Given the description of an element on the screen output the (x, y) to click on. 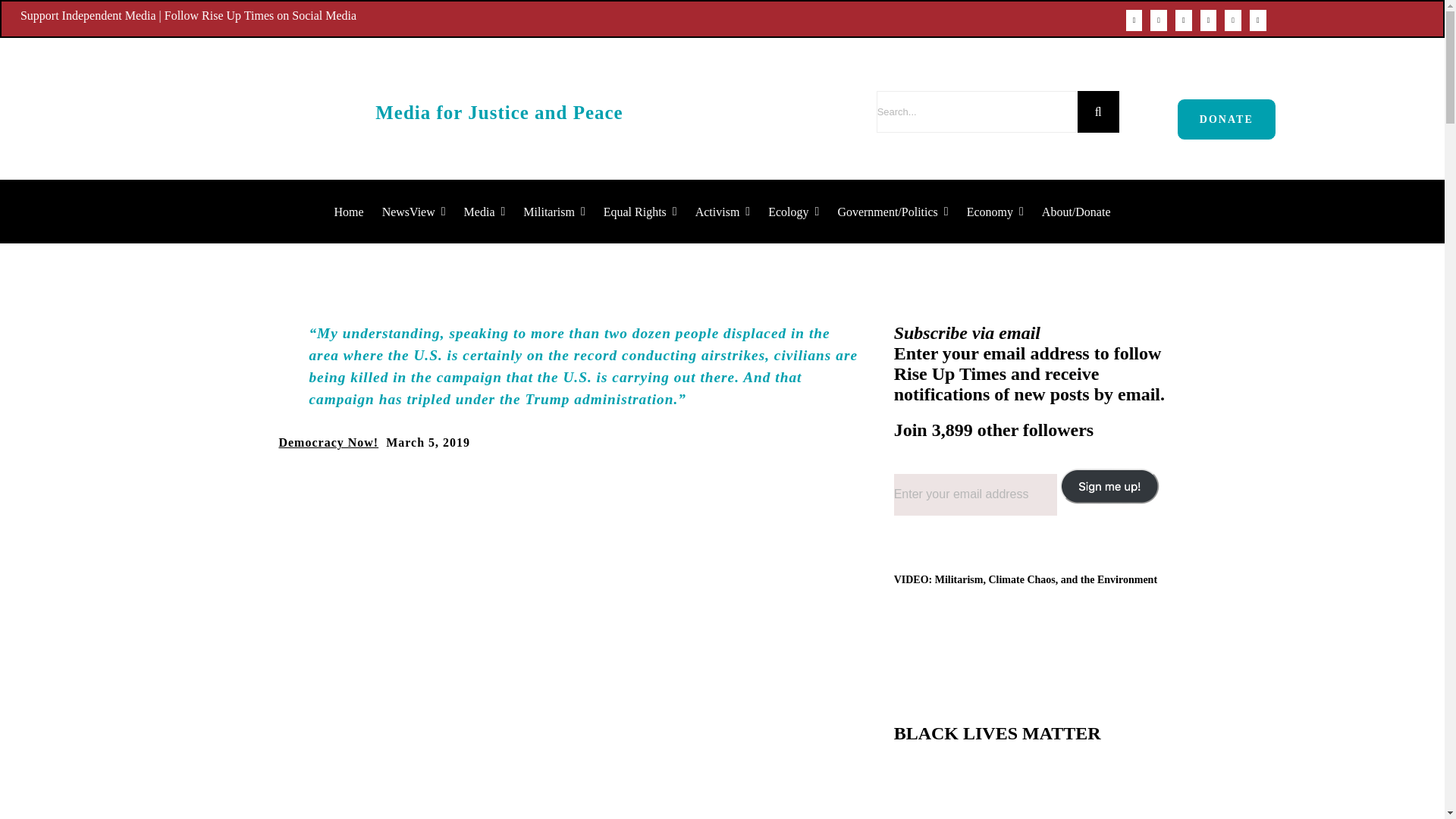
NewsView (413, 212)
DONATE (1226, 119)
Media (484, 212)
Militarism (553, 212)
Sign me up! (1111, 508)
Home (348, 212)
Equal Rights (639, 212)
